Given the description of an element on the screen output the (x, y) to click on. 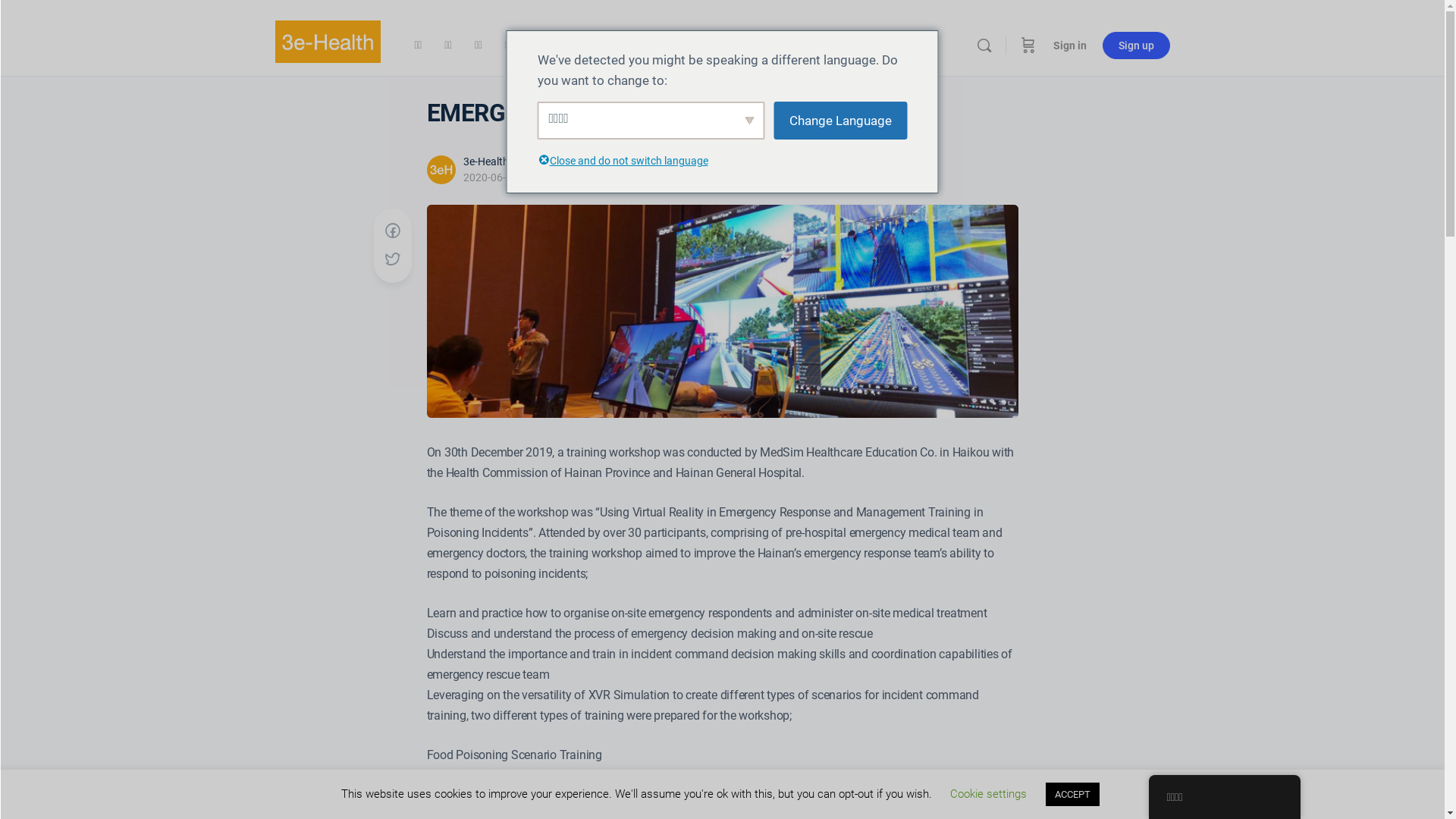
Close and do not switch language Element type: text (628, 161)
Sign up Element type: text (1136, 45)
Close and do not switch language Element type: hover (542, 161)
Cookie settings Element type: text (988, 793)
Sign in Element type: text (1069, 45)
Change Language Element type: text (839, 120)
ACCEPT Element type: text (1072, 794)
3e-Health Element type: text (485, 161)
2020-06-07 Element type: text (489, 177)
